Given the description of an element on the screen output the (x, y) to click on. 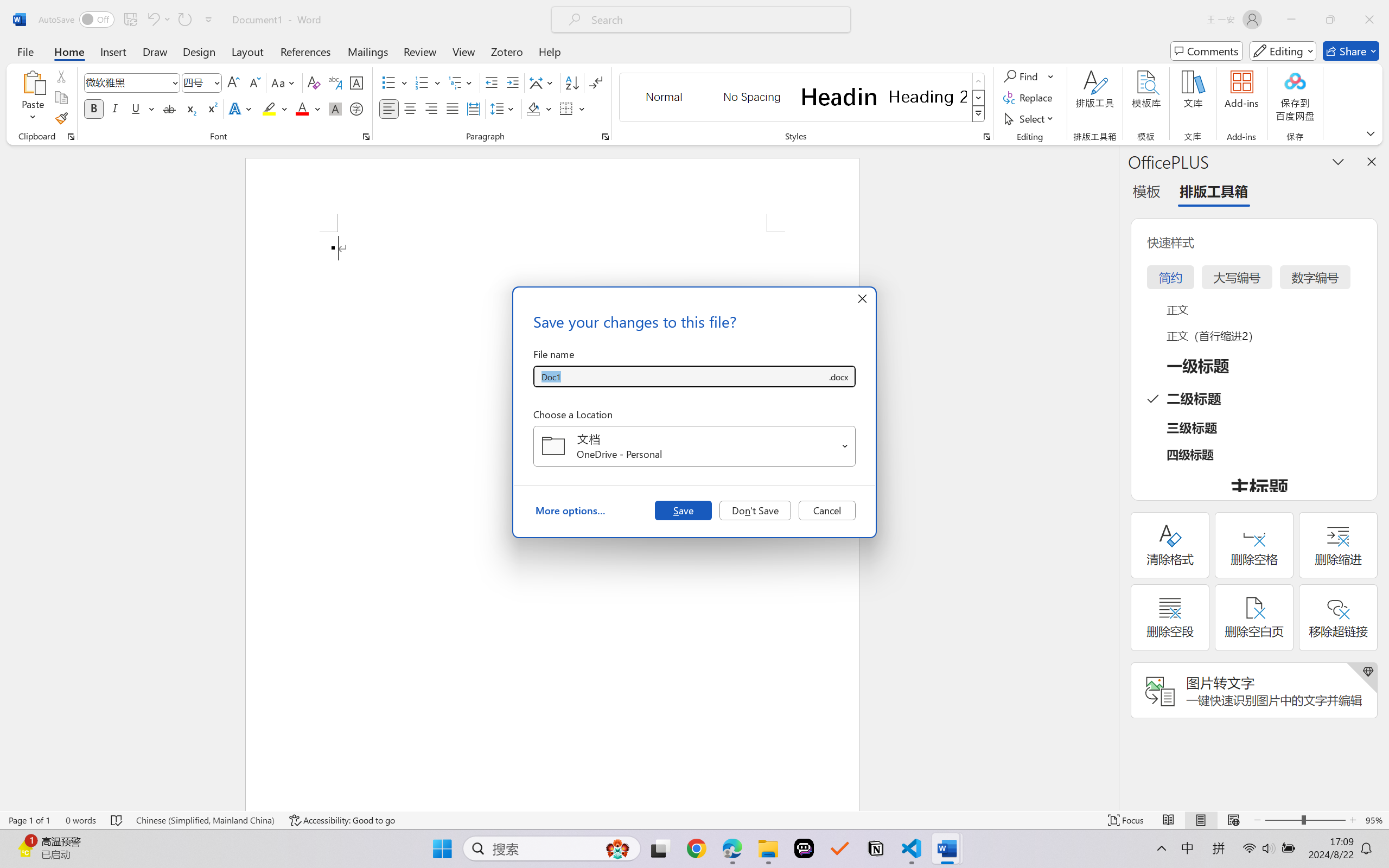
Font Color Red (302, 108)
